Given the description of an element on the screen output the (x, y) to click on. 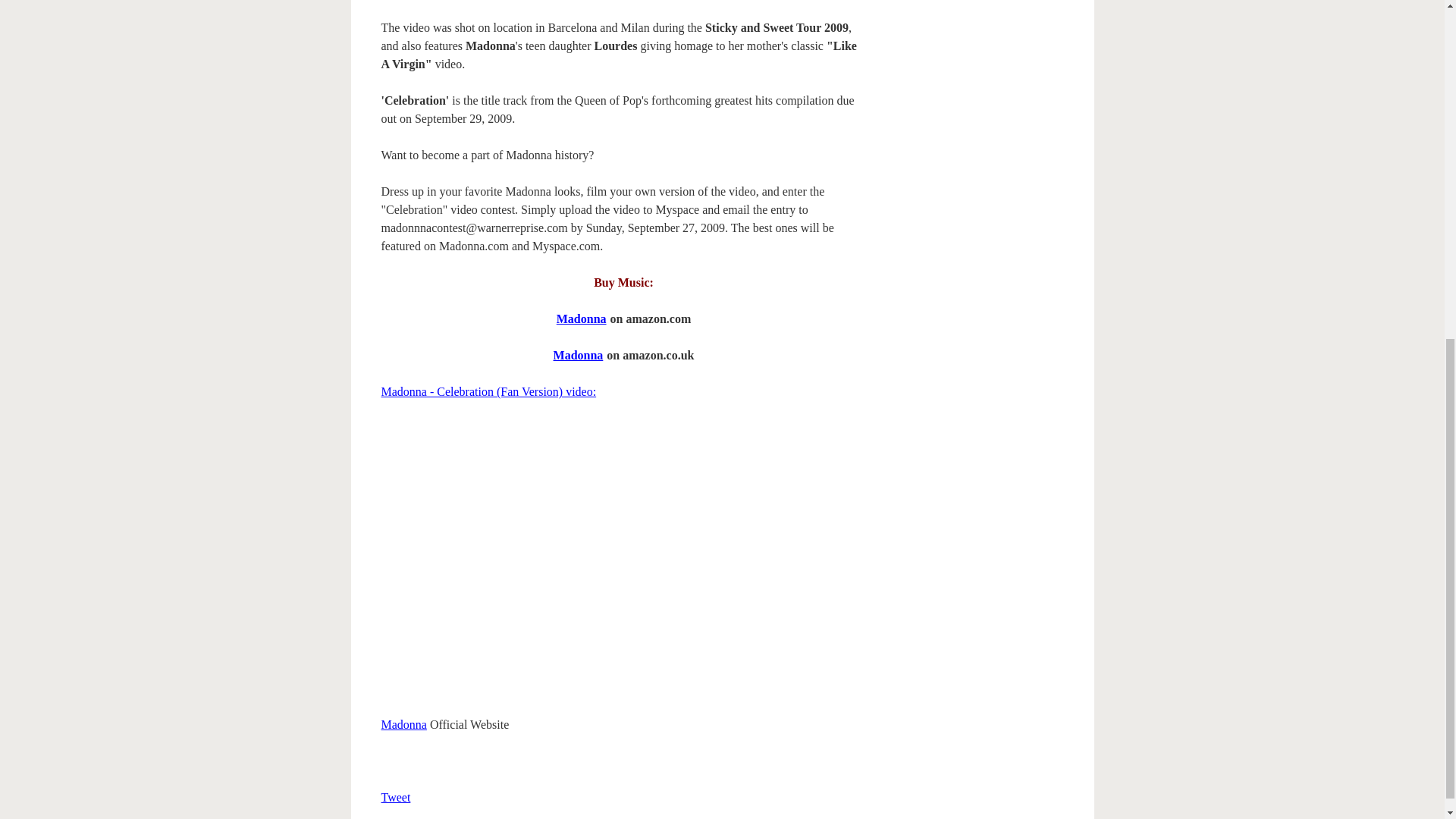
Madonna (578, 354)
Madonna (403, 724)
Madonna (581, 318)
Tweet (395, 797)
